Given the description of an element on the screen output the (x, y) to click on. 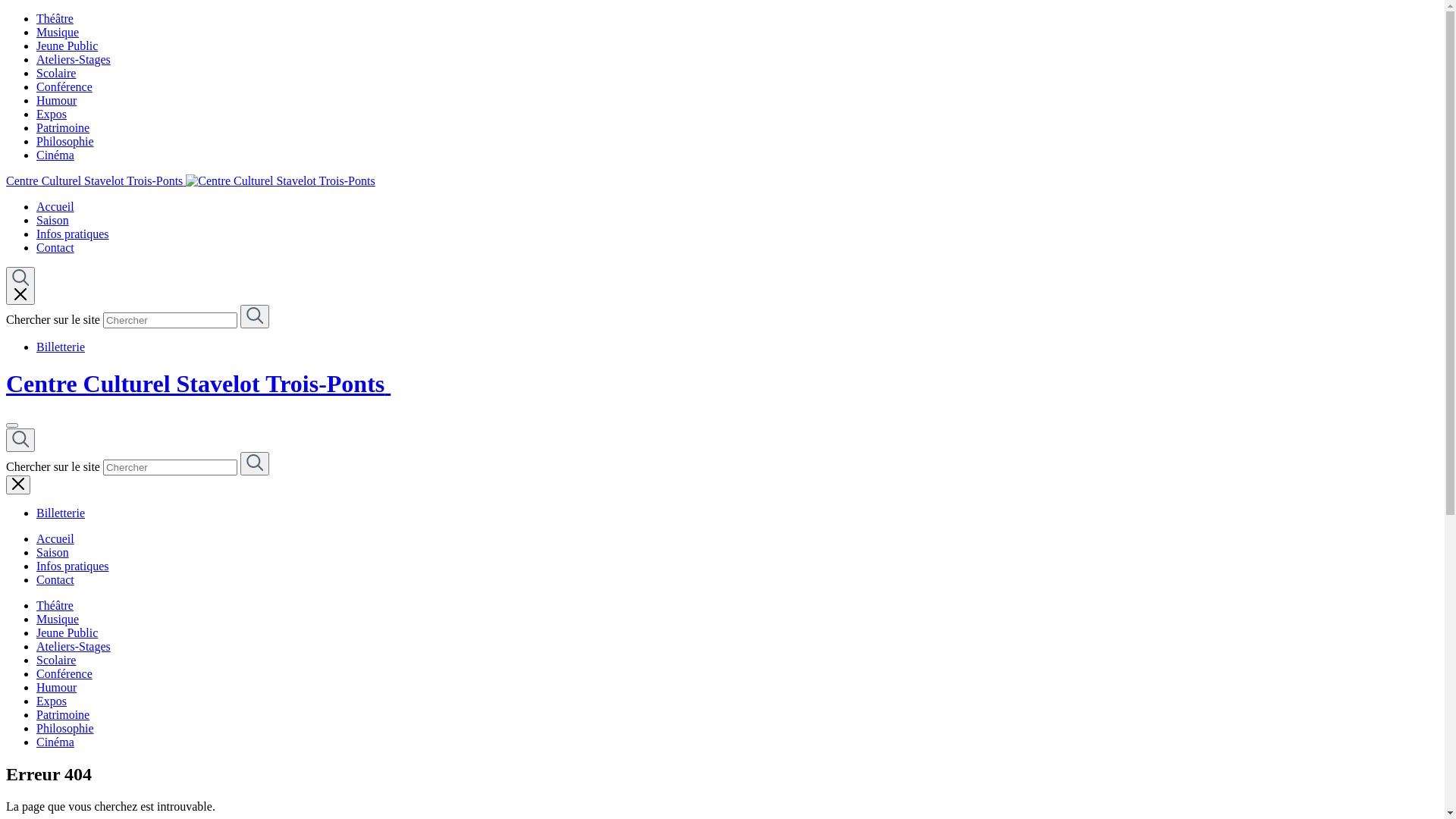
Rechercher Element type: text (20, 285)
Jeune Public Element type: text (66, 45)
Expos Element type: text (51, 700)
Infos pratiques Element type: text (72, 233)
Contact Element type: text (55, 247)
Centre Culturel Stavelot Trois-Ponts Element type: text (198, 383)
Accueil Element type: text (55, 538)
Humour Element type: text (56, 100)
Skip to content Element type: text (5, 11)
Accueil Element type: text (55, 206)
Jeune Public Element type: text (66, 632)
Rechercher Element type: text (20, 439)
Saison Element type: text (52, 552)
Philosophie Element type: text (65, 140)
Rechercher Element type: text (254, 463)
Scolaire Element type: text (55, 72)
Scolaire Element type: text (55, 659)
Philosophie Element type: text (65, 727)
Saison Element type: text (52, 219)
Billetterie Element type: text (60, 346)
Patrimoine Element type: text (62, 127)
Expos Element type: text (51, 113)
Ateliers-Stages Element type: text (73, 646)
Musique Element type: text (57, 618)
Contact Element type: text (55, 579)
Rechercher Element type: text (254, 316)
Musique Element type: text (57, 31)
Patrimoine Element type: text (62, 714)
Billetterie Element type: text (60, 512)
Infos pratiques Element type: text (72, 565)
Humour Element type: text (56, 686)
Centre Culturel Stavelot Trois-Ponts Element type: text (190, 180)
Ateliers-Stages Element type: text (73, 59)
